Given the description of an element on the screen output the (x, y) to click on. 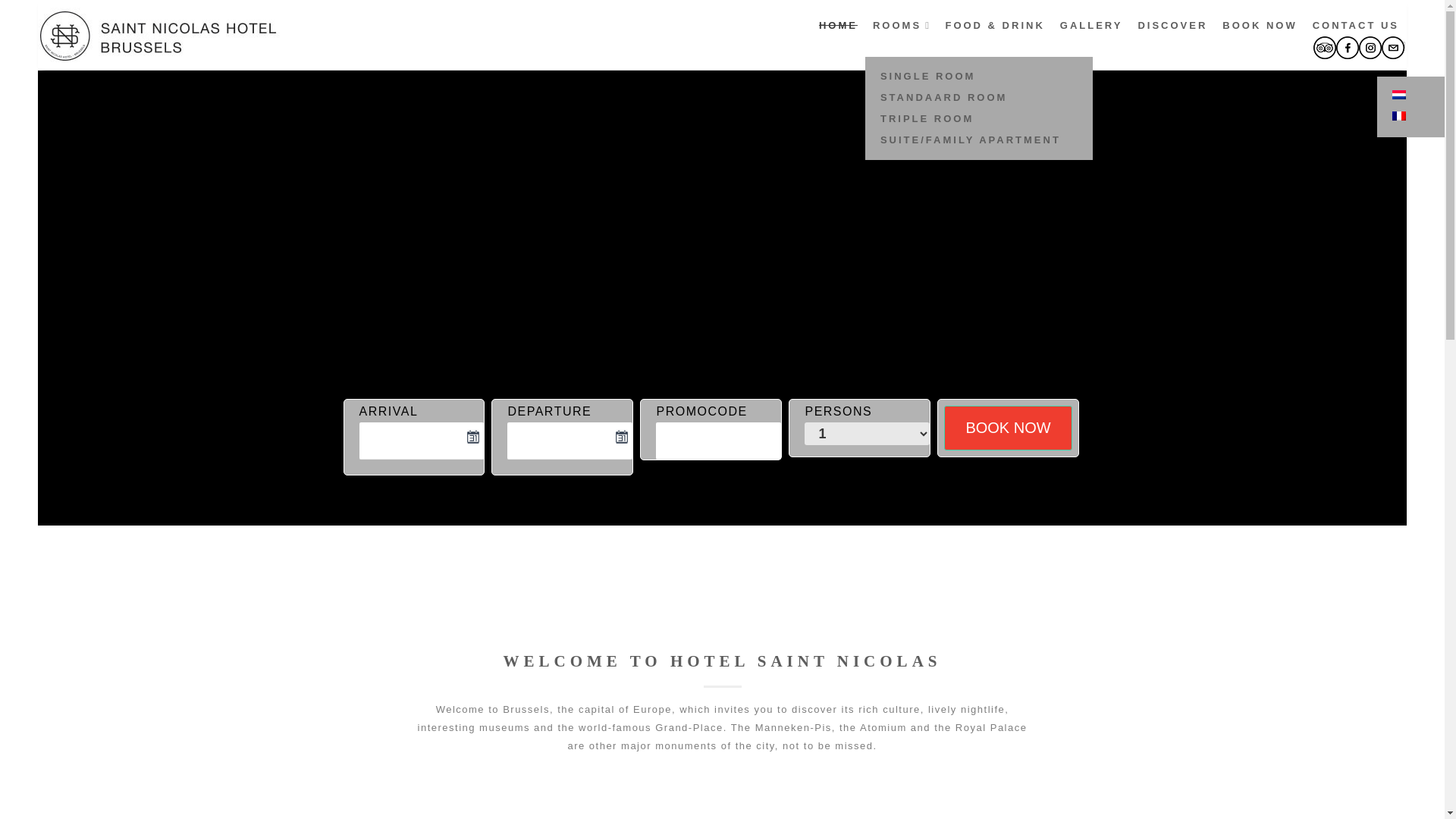
ROOMS (896, 25)
English (1390, 43)
BOOK NOW (1260, 25)
DISCOVER (1172, 25)
CONTACT US (1356, 25)
SINGLE ROOM (927, 76)
Nederlands (1398, 94)
HOME (837, 25)
GALLERY (1090, 25)
TRIPLE ROOM (927, 119)
